Given the description of an element on the screen output the (x, y) to click on. 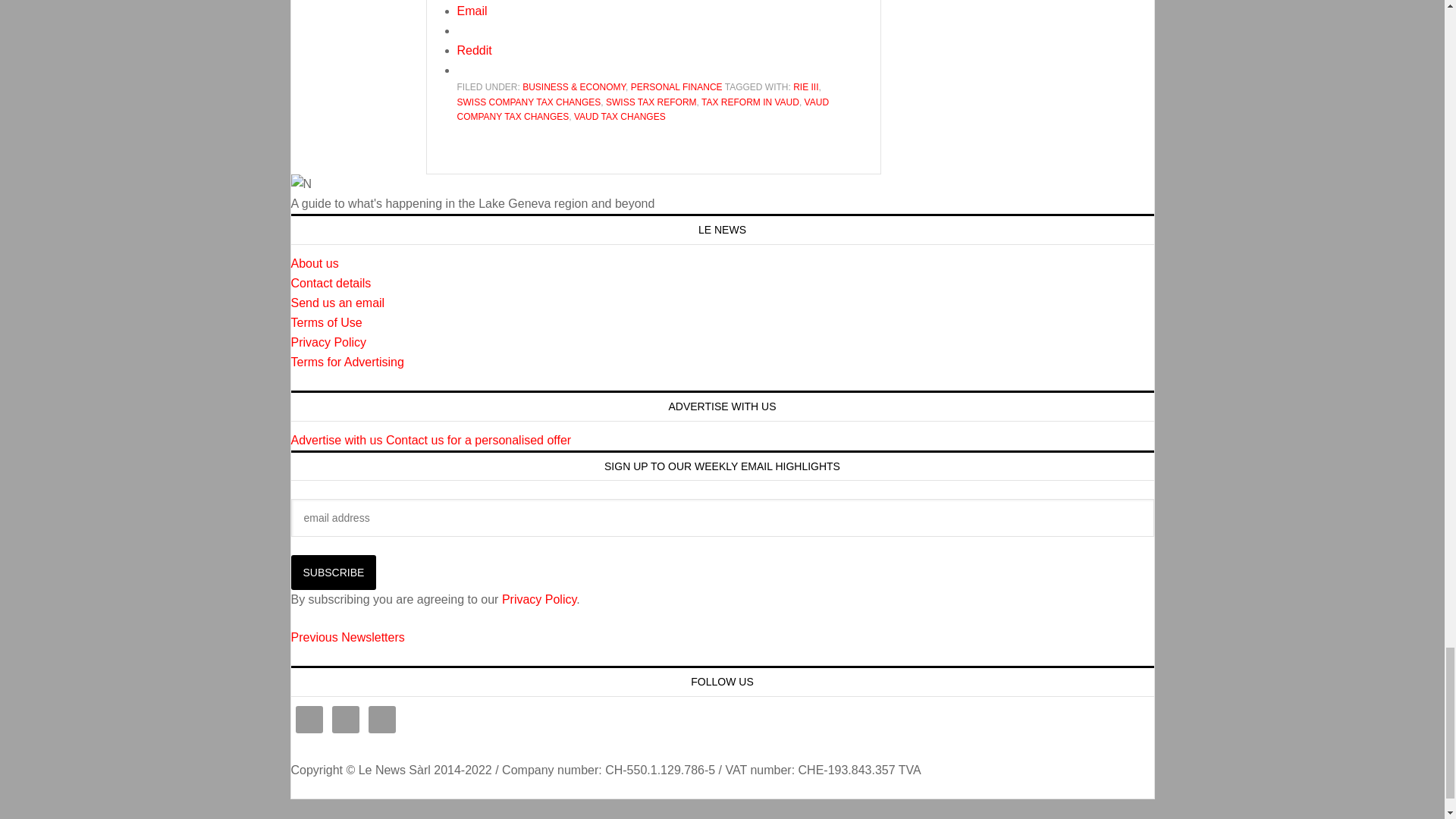
Advertising Terms and Conditions (347, 361)
Terms and Conditions (326, 322)
ABOUT US (315, 263)
Subscribe (334, 572)
Click to email a link to a friend (471, 10)
Privacy Policy (328, 341)
Click to share on Reddit (474, 50)
CONTACT (331, 282)
Previous Newsletters (347, 636)
